Given the description of an element on the screen output the (x, y) to click on. 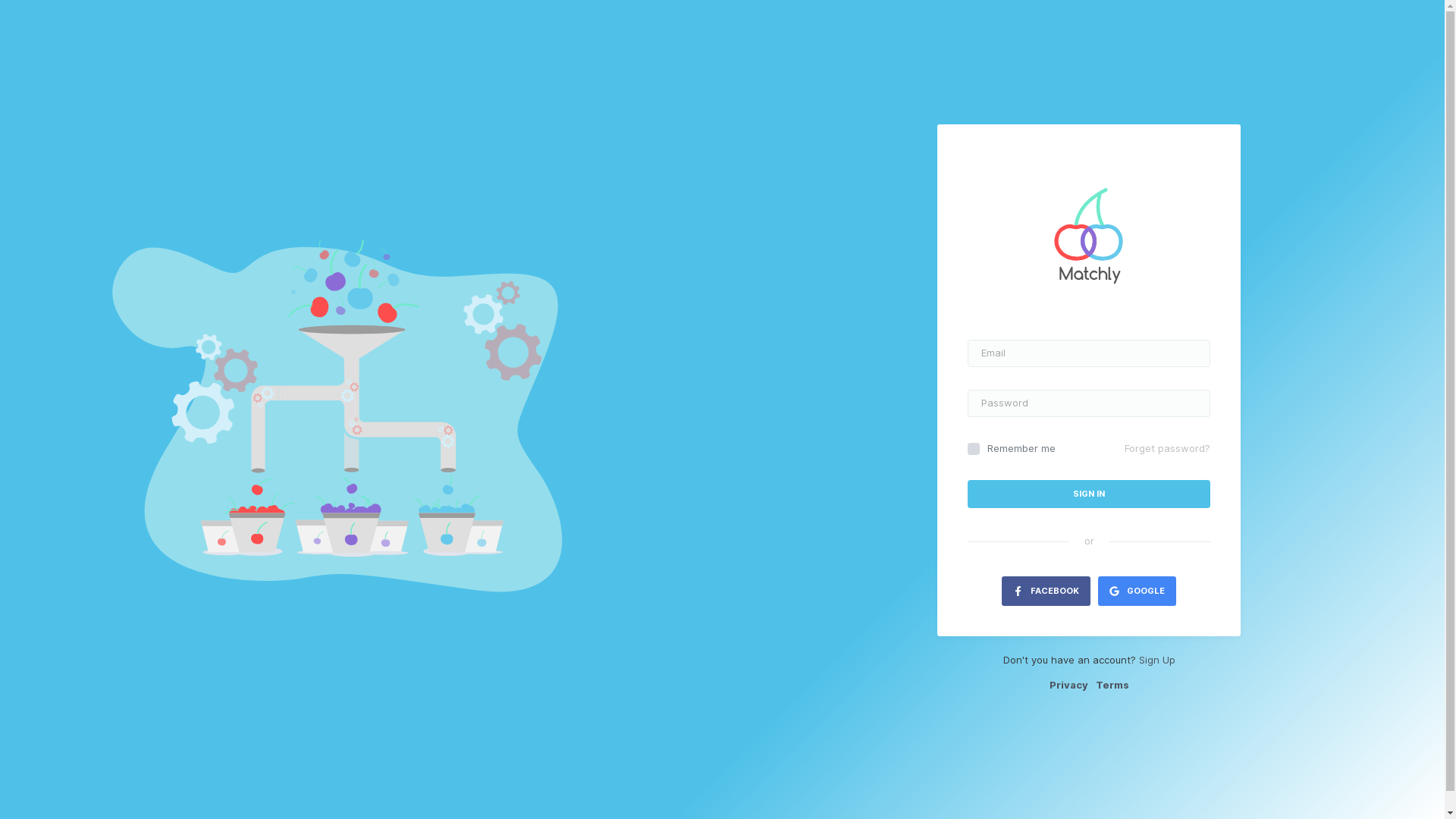
GOOGLE Element type: text (1137, 590)
Sign Up Element type: text (1157, 659)
Terms Element type: text (1112, 684)
SIGN IN Element type: text (1088, 494)
Privacy Element type: text (1068, 684)
Forget password? Element type: text (1167, 448)
FACEBOOK Element type: text (1045, 590)
